Given the description of an element on the screen output the (x, y) to click on. 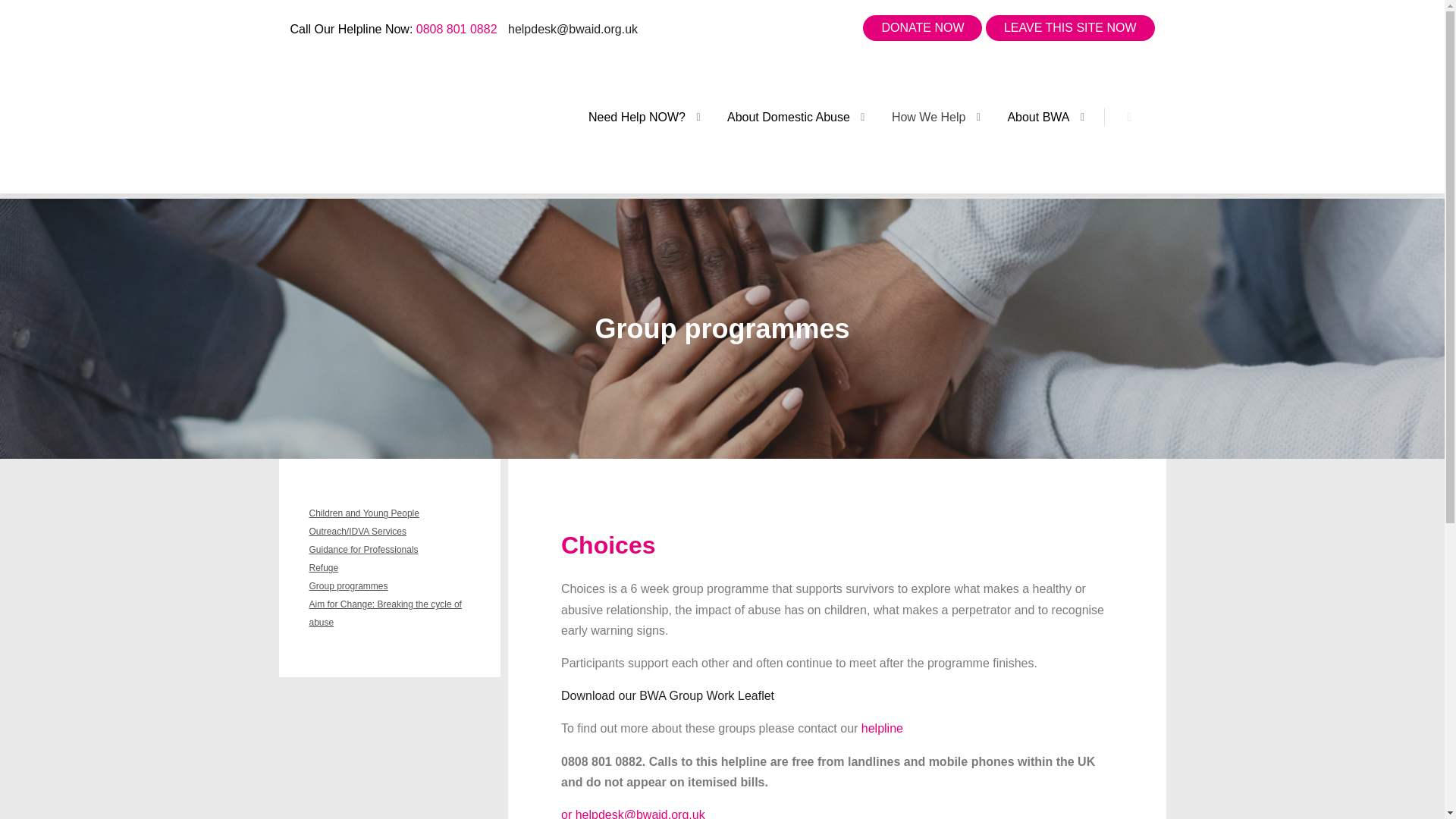
DONATE NOW (922, 27)
0808 801 0882 (456, 29)
Download our BWA Group Work Leaflet (667, 695)
Search (1129, 117)
About Domestic Abuse (780, 116)
LEAVE THIS SITE NOW (1069, 27)
About Domestic Abuse (780, 116)
